Given the description of an element on the screen output the (x, y) to click on. 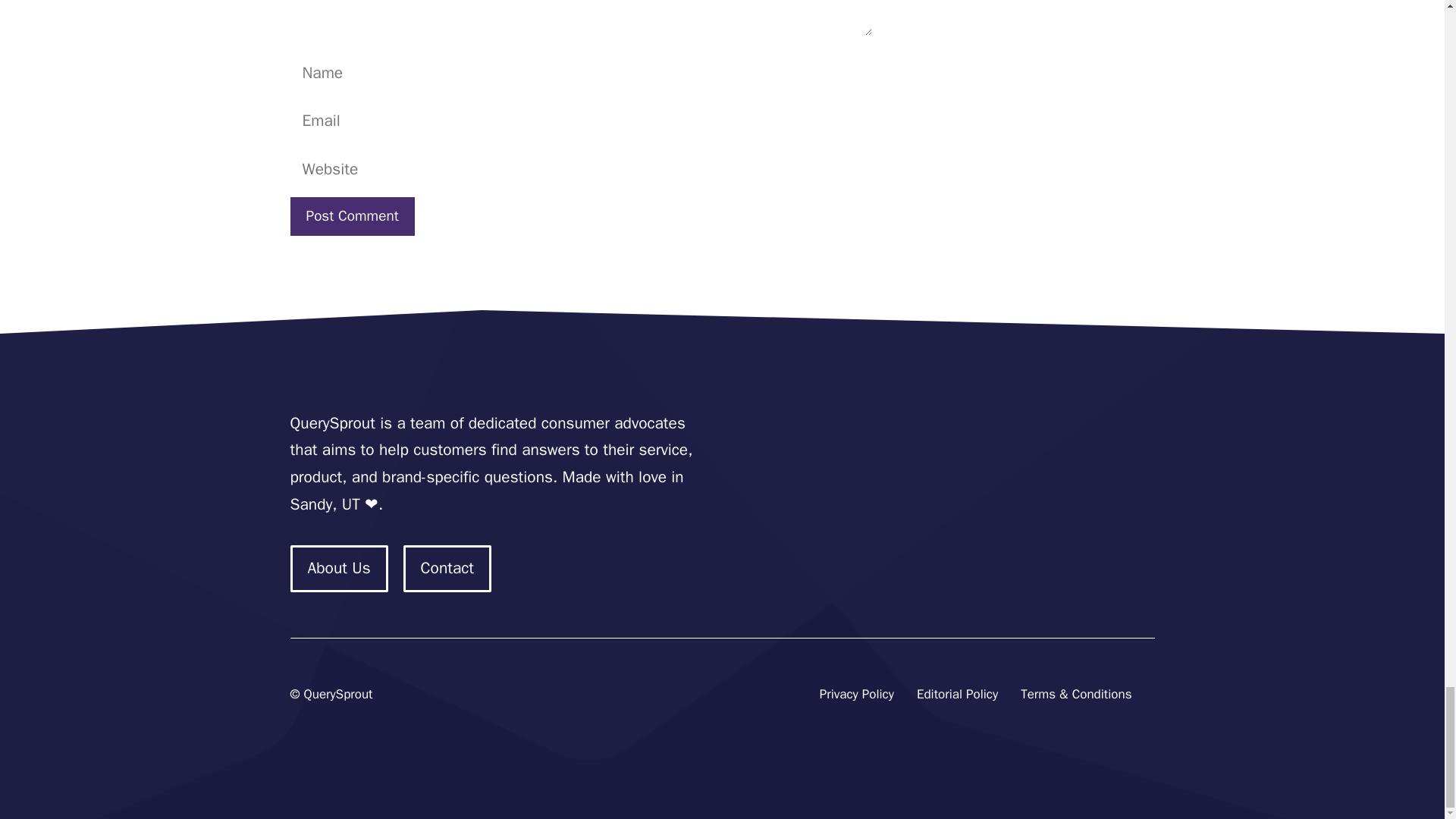
Privacy Policy (856, 694)
Post Comment (351, 216)
Post Comment (351, 216)
Contact (447, 568)
Editorial Policy (957, 694)
About Us (338, 568)
